Given the description of an element on the screen output the (x, y) to click on. 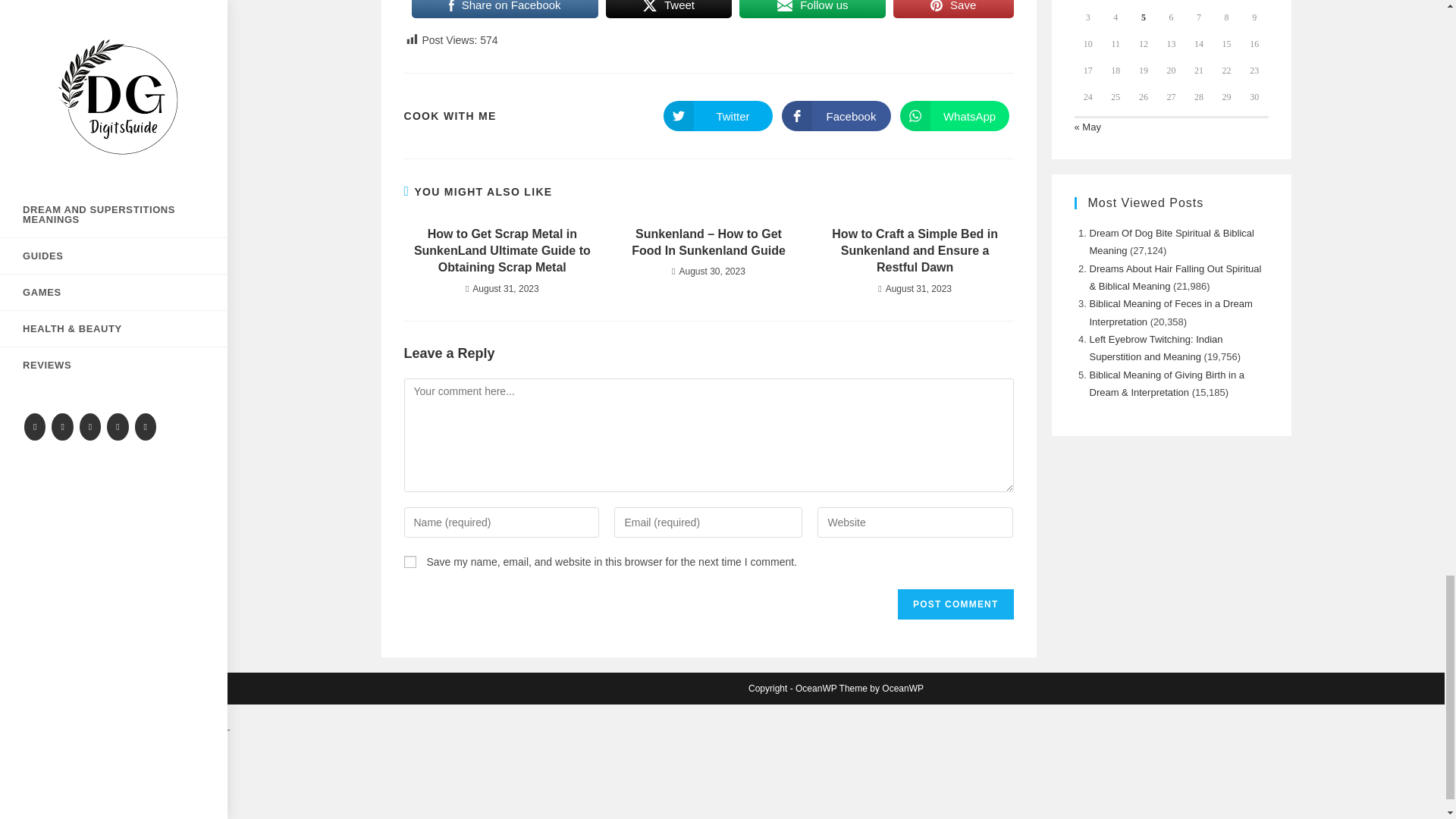
yes (408, 562)
Post Comment (955, 603)
